Given the description of an element on the screen output the (x, y) to click on. 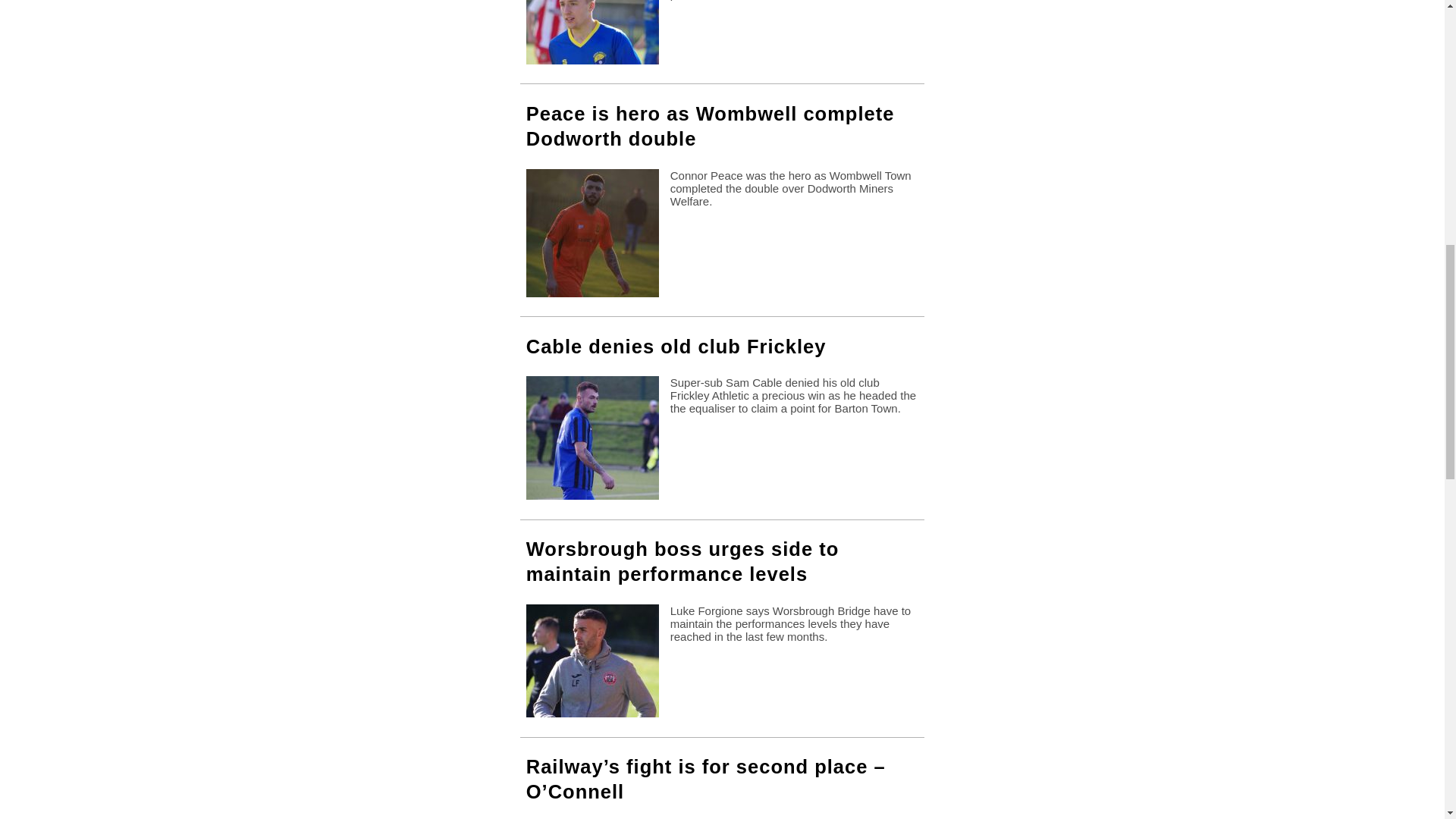
Worsbrough boss urges side to maintain performance levels (681, 561)
Peace is hero as Wombwell complete Dodworth double (710, 126)
Cable denies old club Frickley (676, 346)
